Given the description of an element on the screen output the (x, y) to click on. 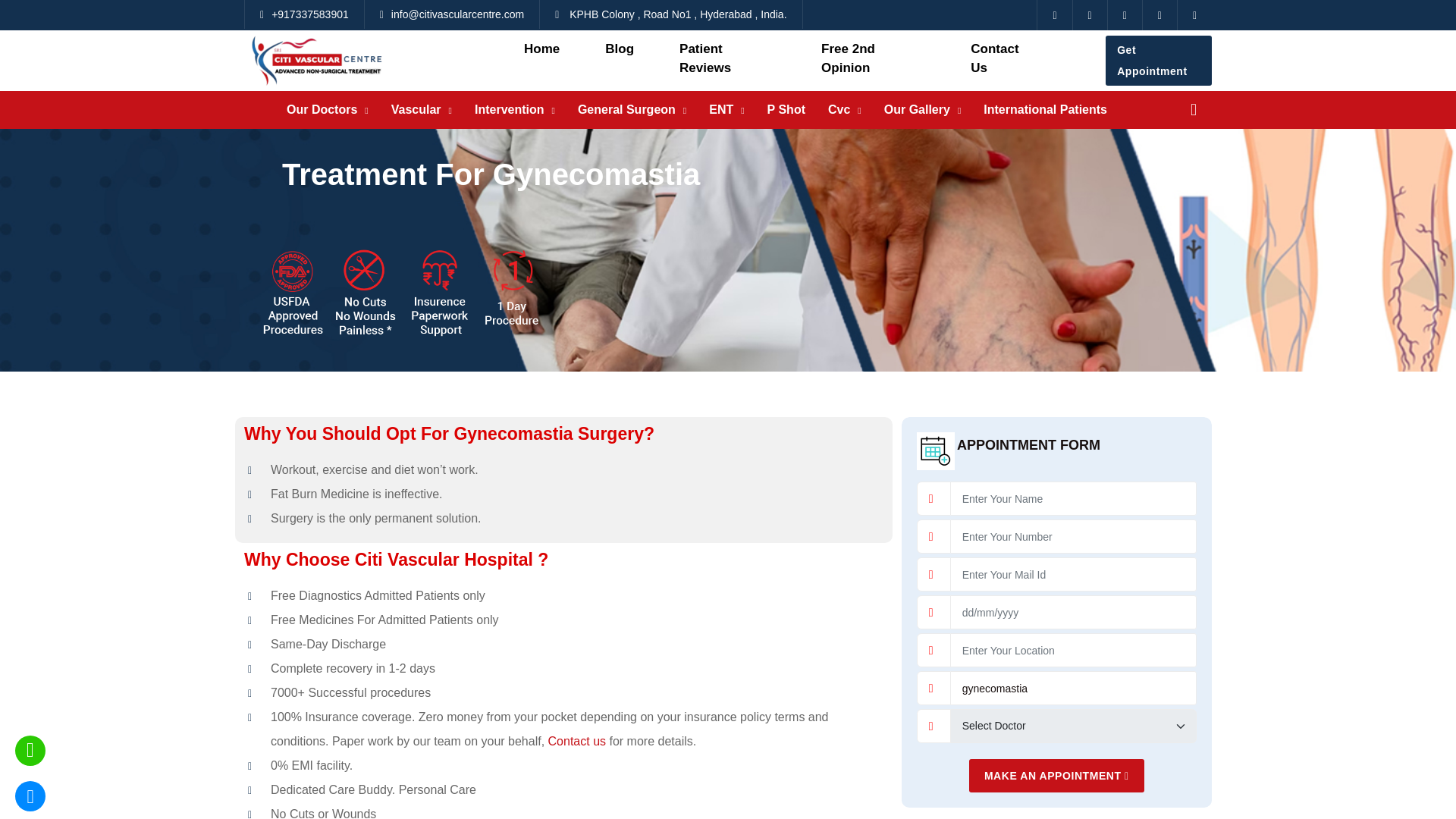
Our Doctors (321, 109)
Contact Us (994, 59)
Blog (630, 50)
Intervention (509, 109)
Patient Reviews (716, 59)
Get Appointment (1158, 60)
General Surgeon (626, 109)
Free 2nd Opinion (856, 59)
Vascular (416, 109)
Home (553, 50)
